Given the description of an element on the screen output the (x, y) to click on. 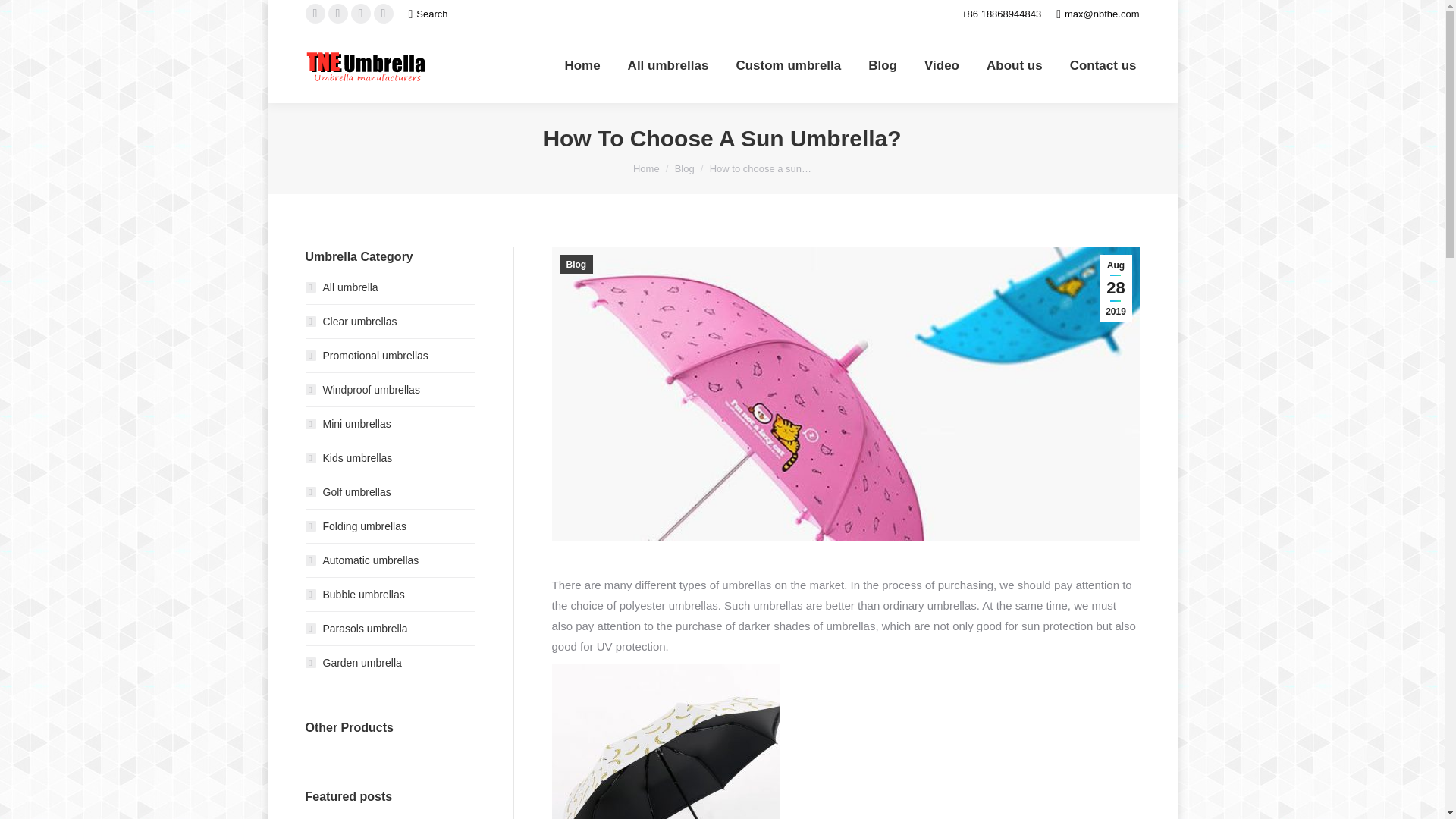
About us (1014, 64)
Contact us (1103, 64)
All umbrellas (667, 64)
Search (426, 12)
Twitter (382, 13)
Pinterest (337, 13)
Twitter (382, 13)
YouTube (314, 13)
Custom umbrella (788, 64)
Facebook (359, 13)
YouTube (314, 13)
Facebook (359, 13)
Go! (22, 14)
Pinterest (337, 13)
